Given the description of an element on the screen output the (x, y) to click on. 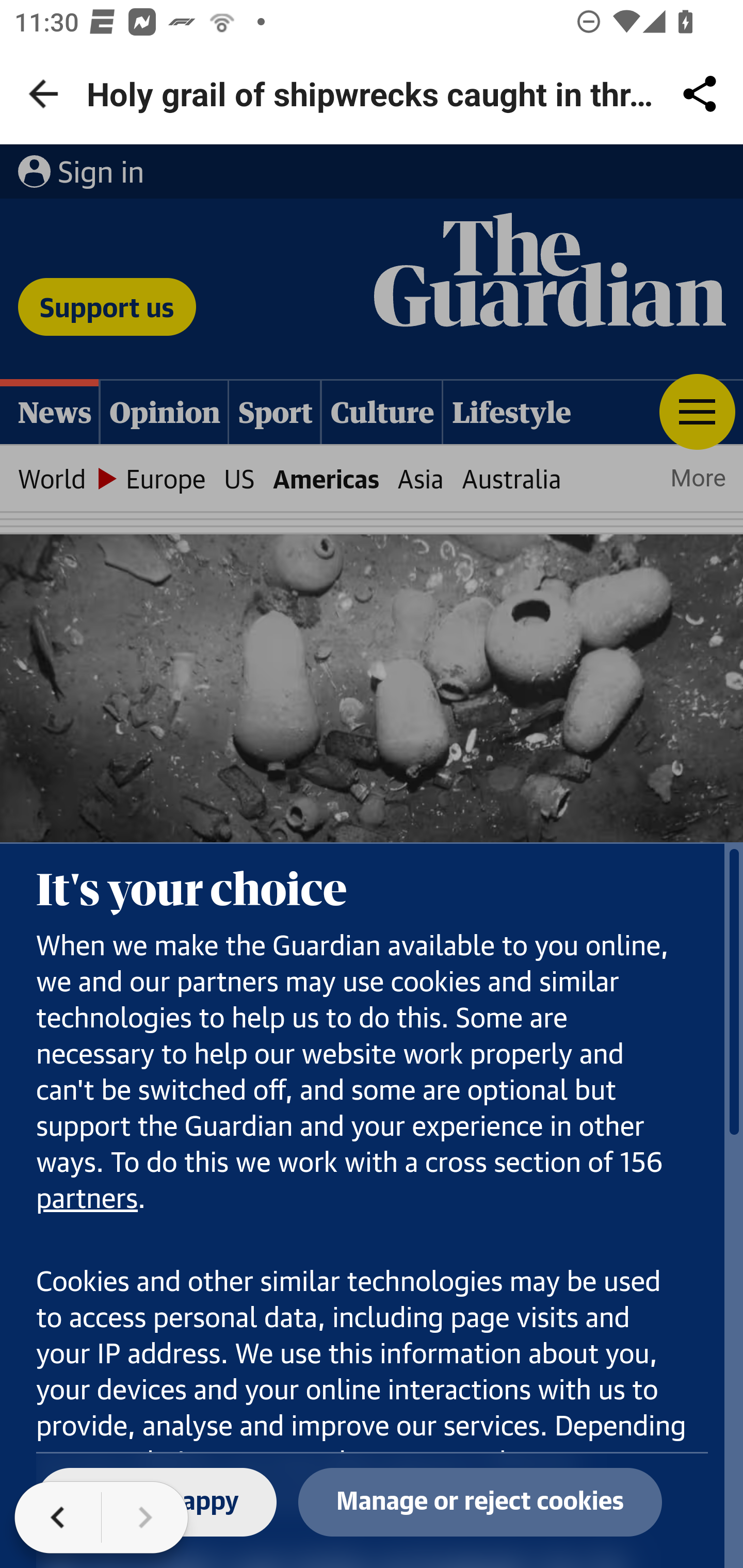
partners (87, 1199)
Manage or reject cookies (479, 1502)
